Given the description of an element on the screen output the (x, y) to click on. 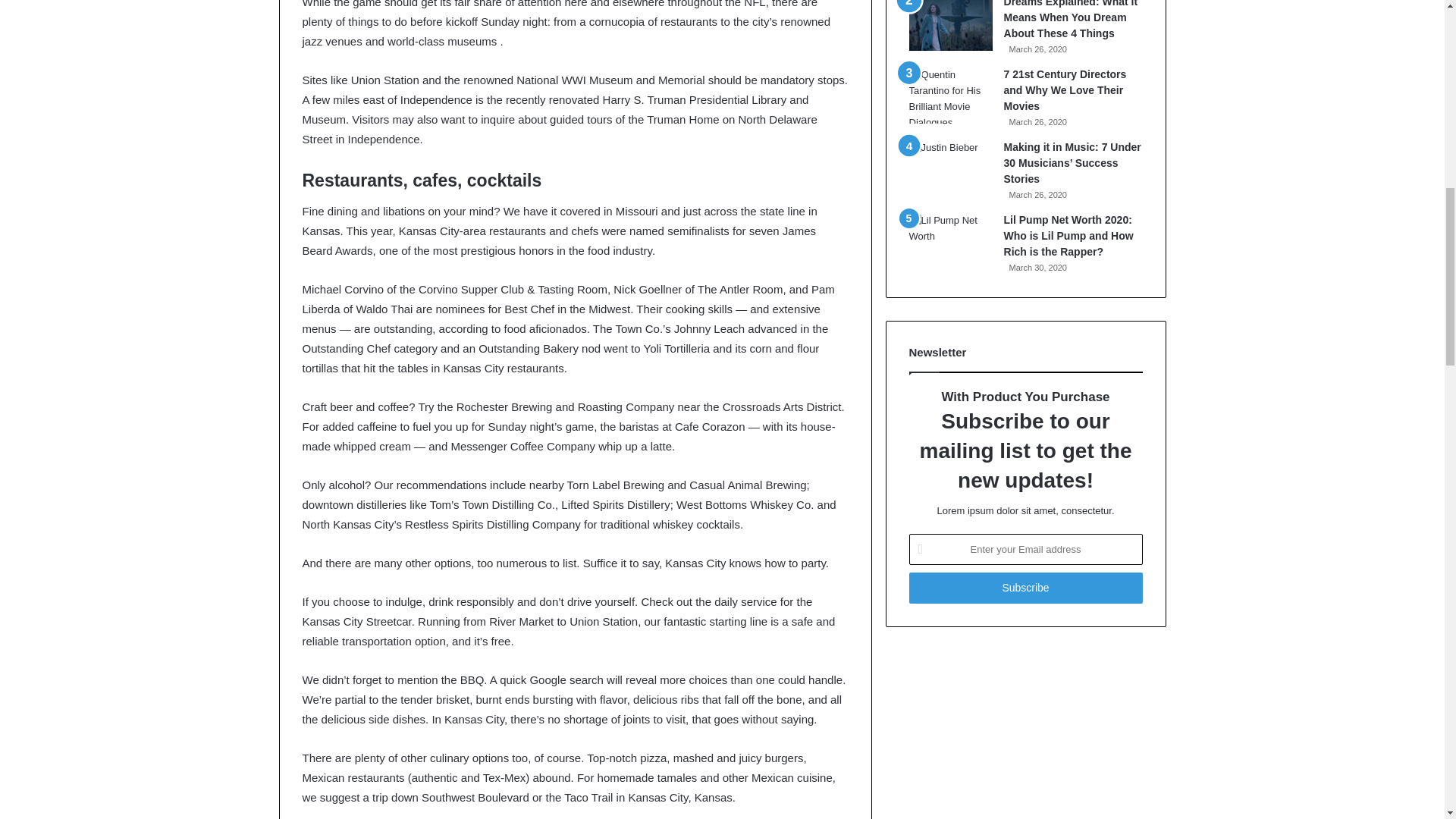
Subscribe (1025, 587)
